Given the description of an element on the screen output the (x, y) to click on. 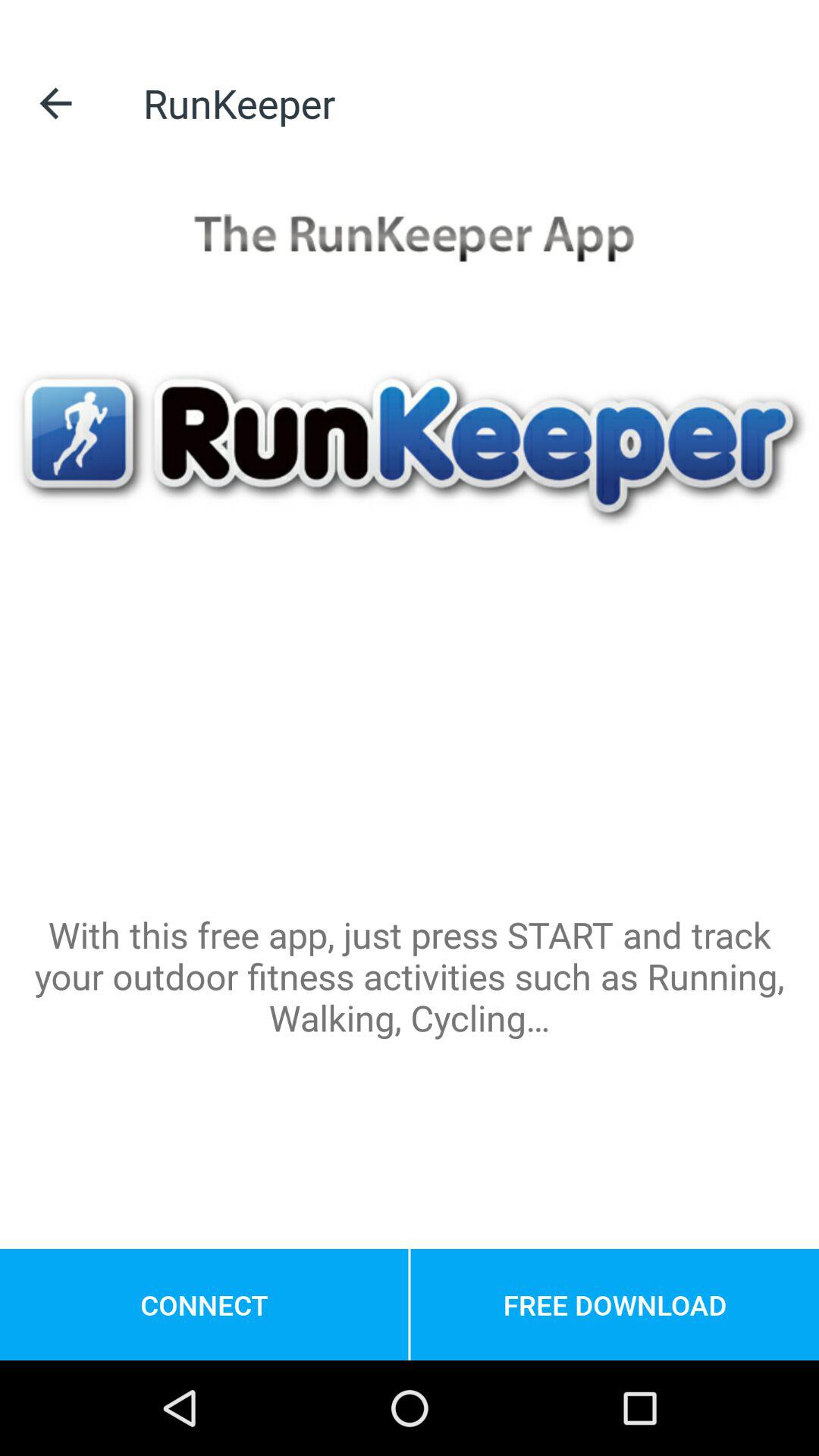
turn off the item next to runkeeper (55, 103)
